Given the description of an element on the screen output the (x, y) to click on. 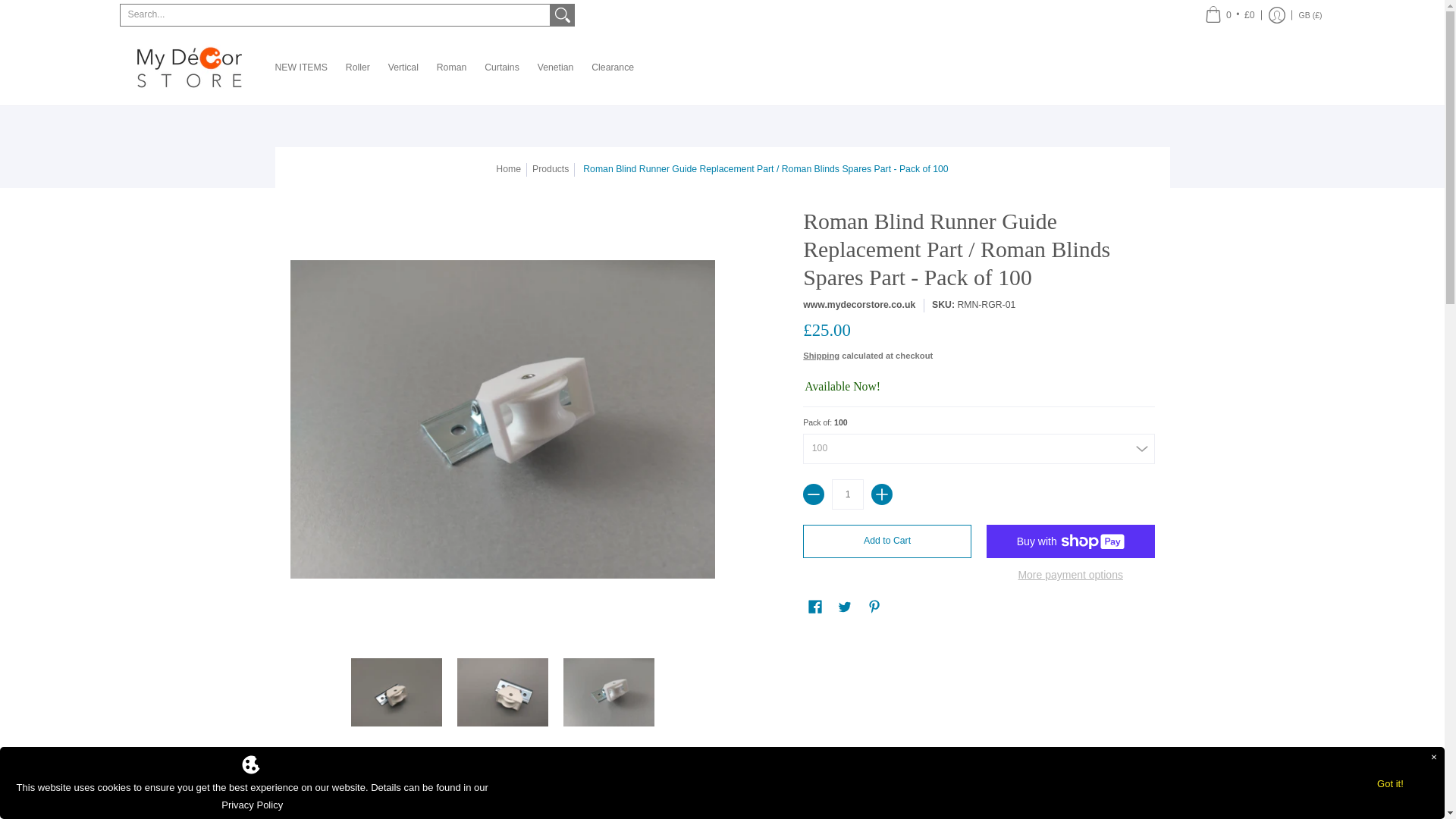
1 (847, 494)
Cart (1230, 15)
Update store currency (1310, 15)
Log in (1277, 15)
